Given the description of an element on the screen output the (x, y) to click on. 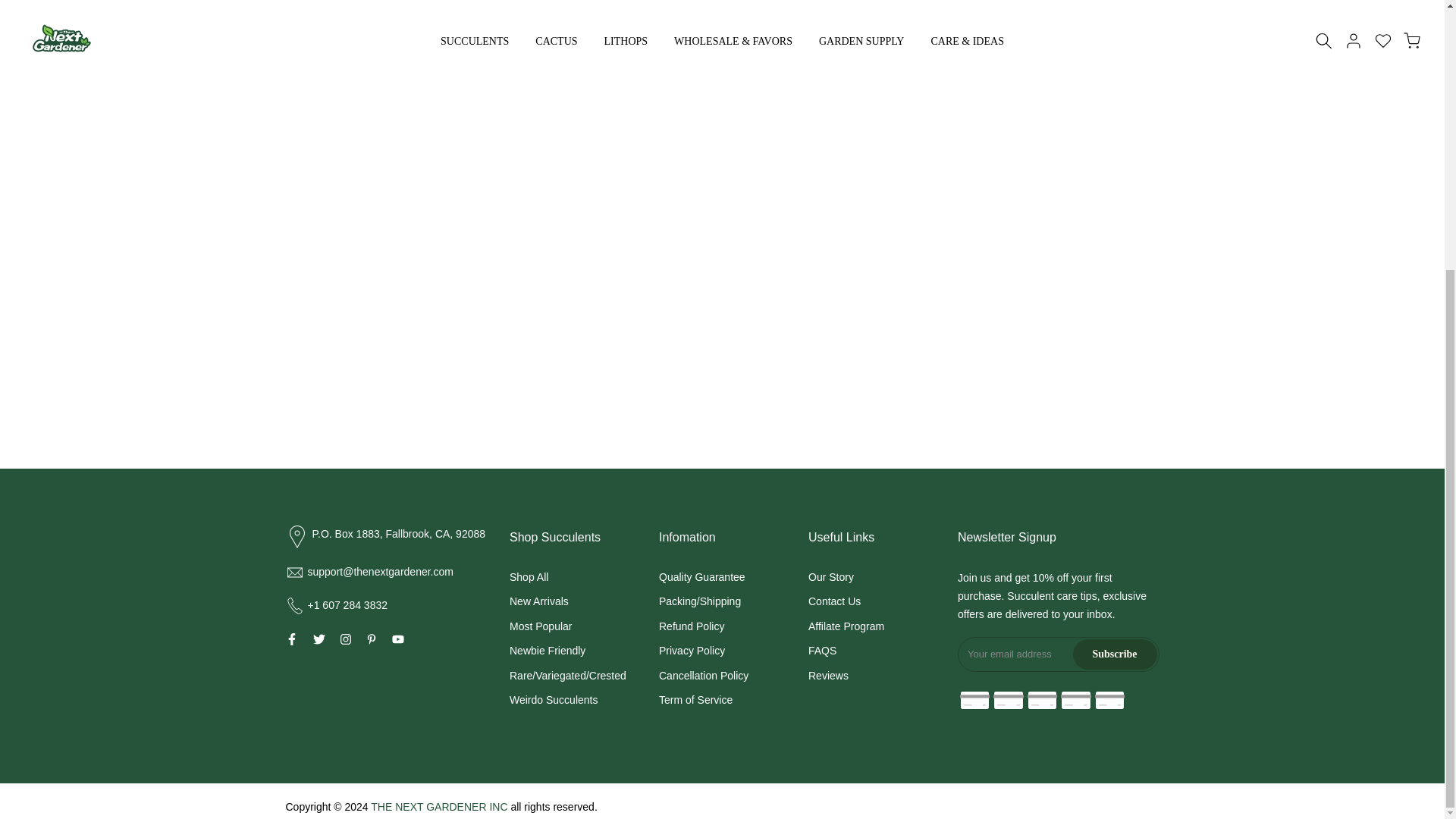
Quality Guarantee (702, 576)
New Arrivals (539, 601)
Shop All (528, 576)
Term of Service (695, 699)
Refund Policy (691, 625)
Affilate Program (845, 625)
Newbie Friendly (547, 650)
Most Popular (540, 625)
Our Story (830, 576)
Cancellation Policy (703, 675)
